Given the description of an element on the screen output the (x, y) to click on. 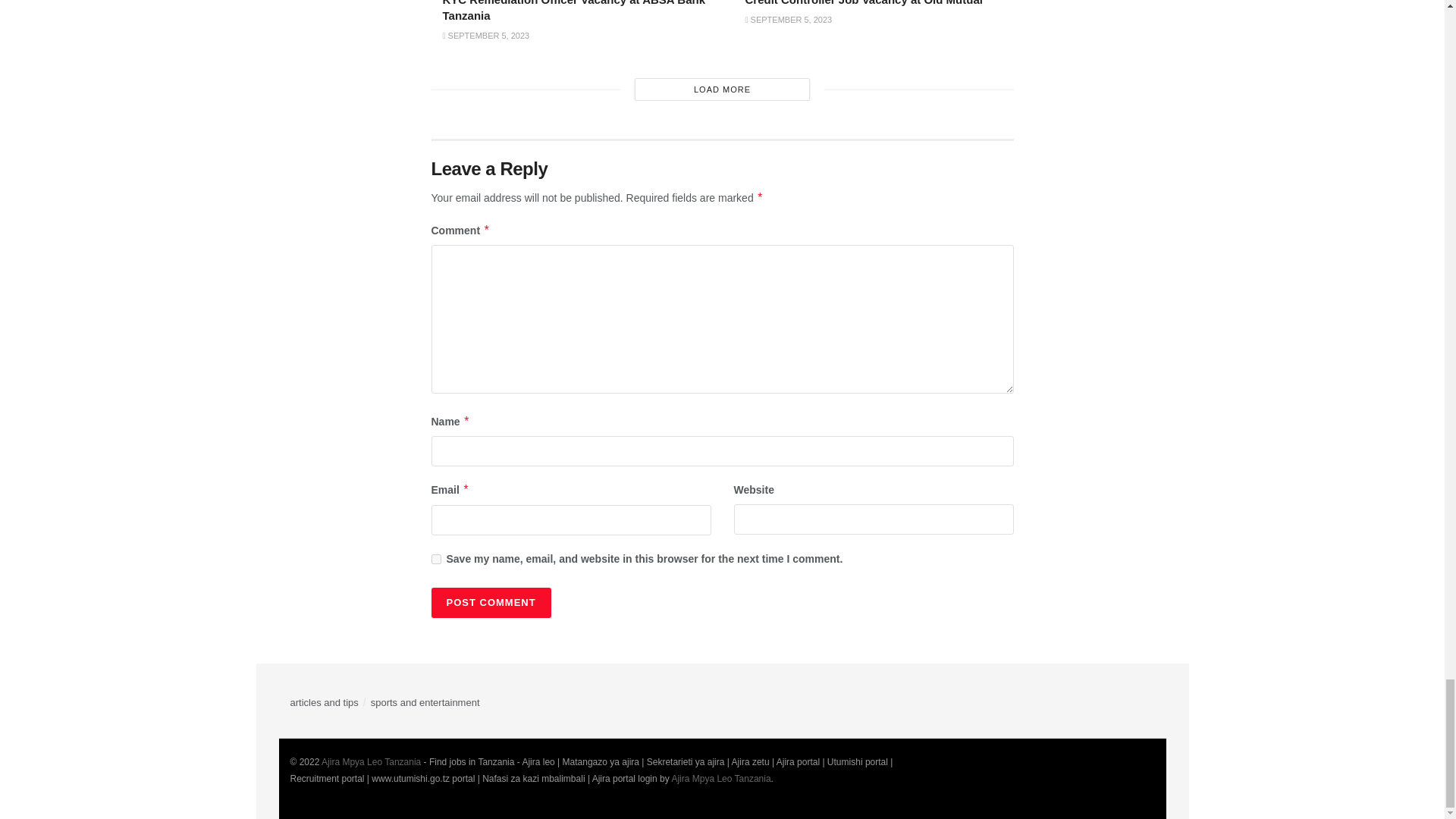
yes (435, 559)
Post Comment (490, 603)
Ajira Mpya Leo (720, 778)
